Given the description of an element on the screen output the (x, y) to click on. 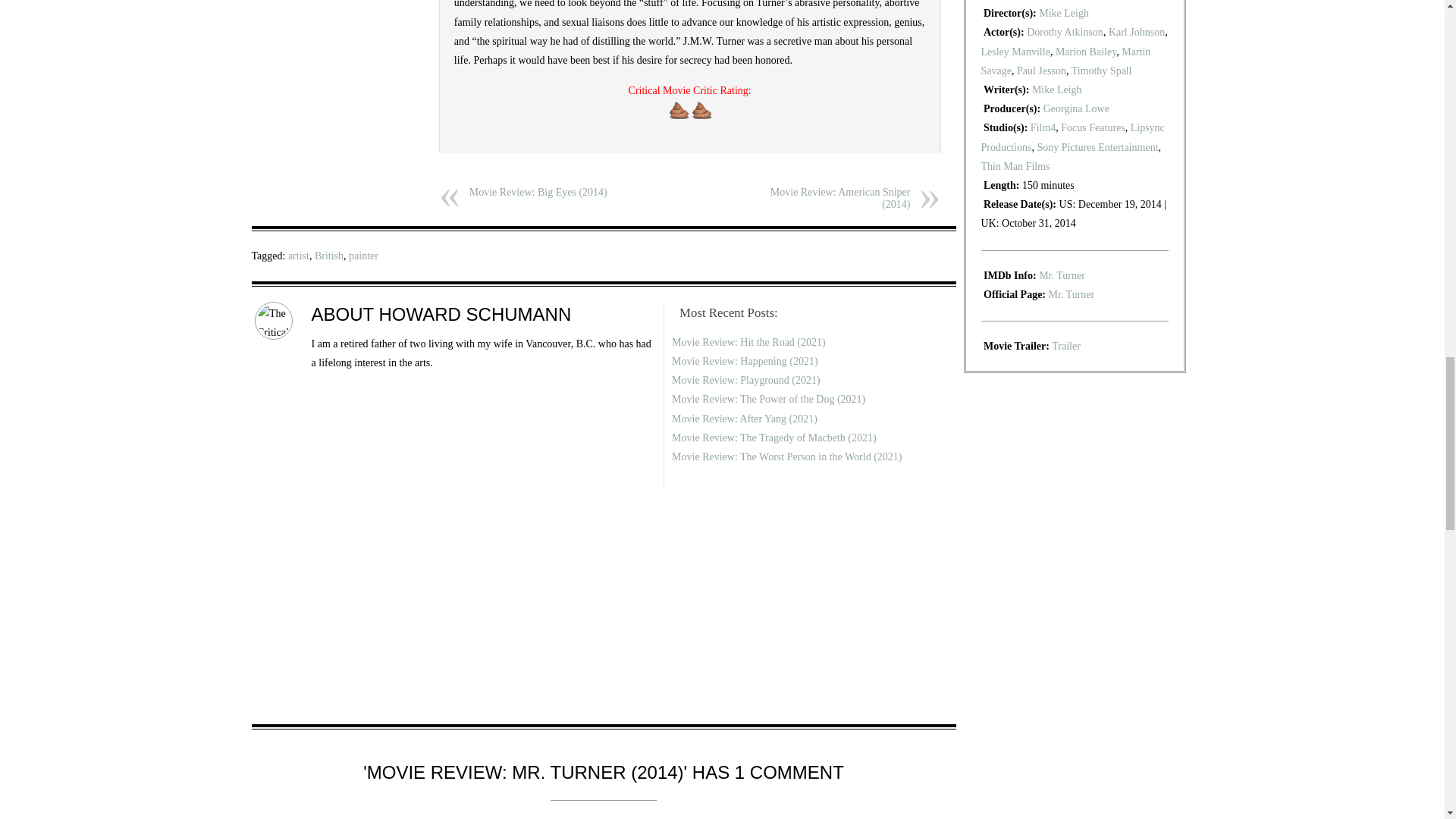
British (328, 255)
HOWARD SCHUMANN (475, 313)
painter (363, 255)
artist (298, 255)
